Given the description of an element on the screen output the (x, y) to click on. 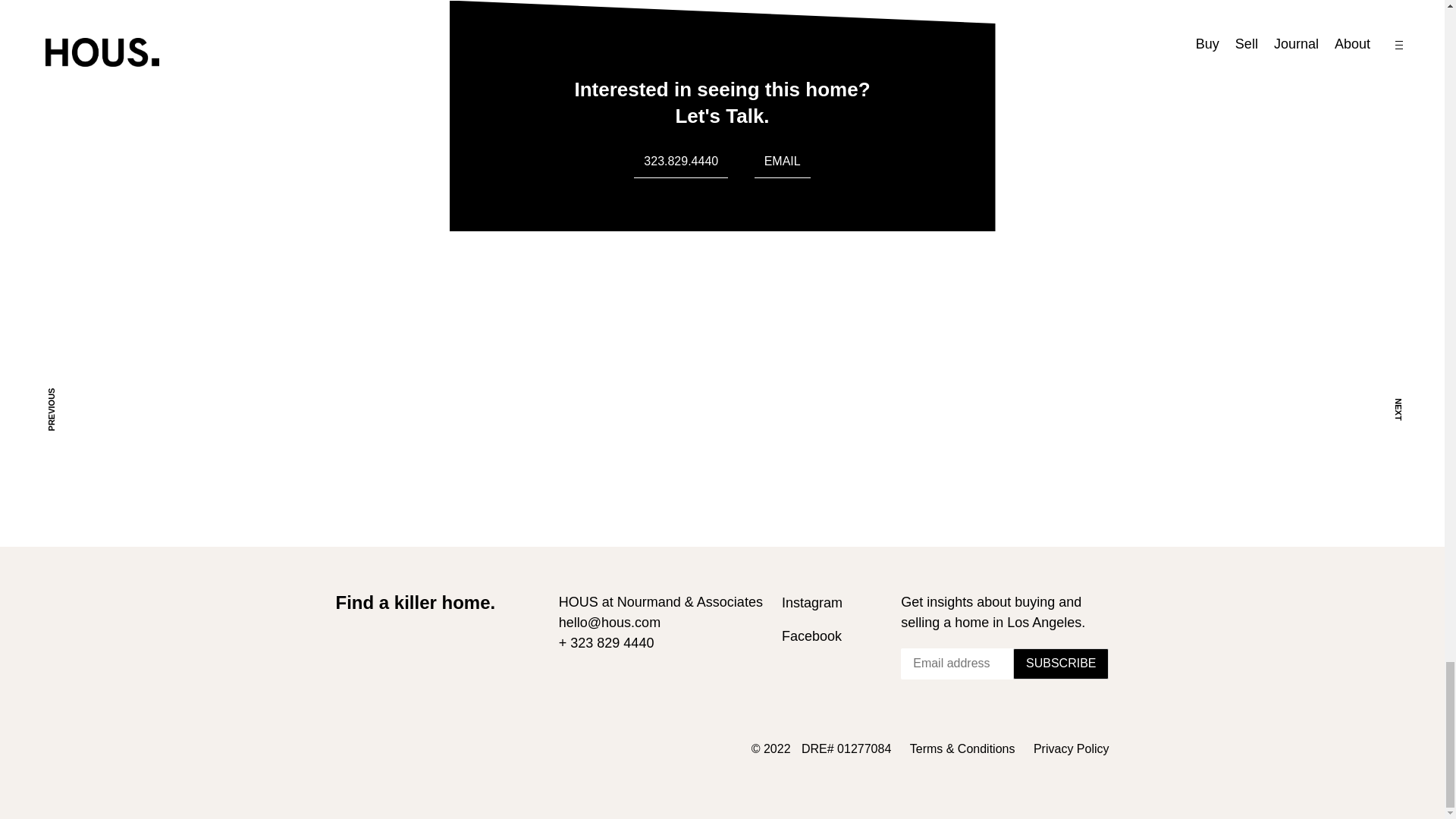
Privacy Policy (1071, 748)
SUBSCRIBE (1060, 663)
EMAIL (782, 161)
SUBSCRIBE (1060, 663)
323.829.4440 (680, 161)
Find a killer home. (414, 602)
